Given the description of an element on the screen output the (x, y) to click on. 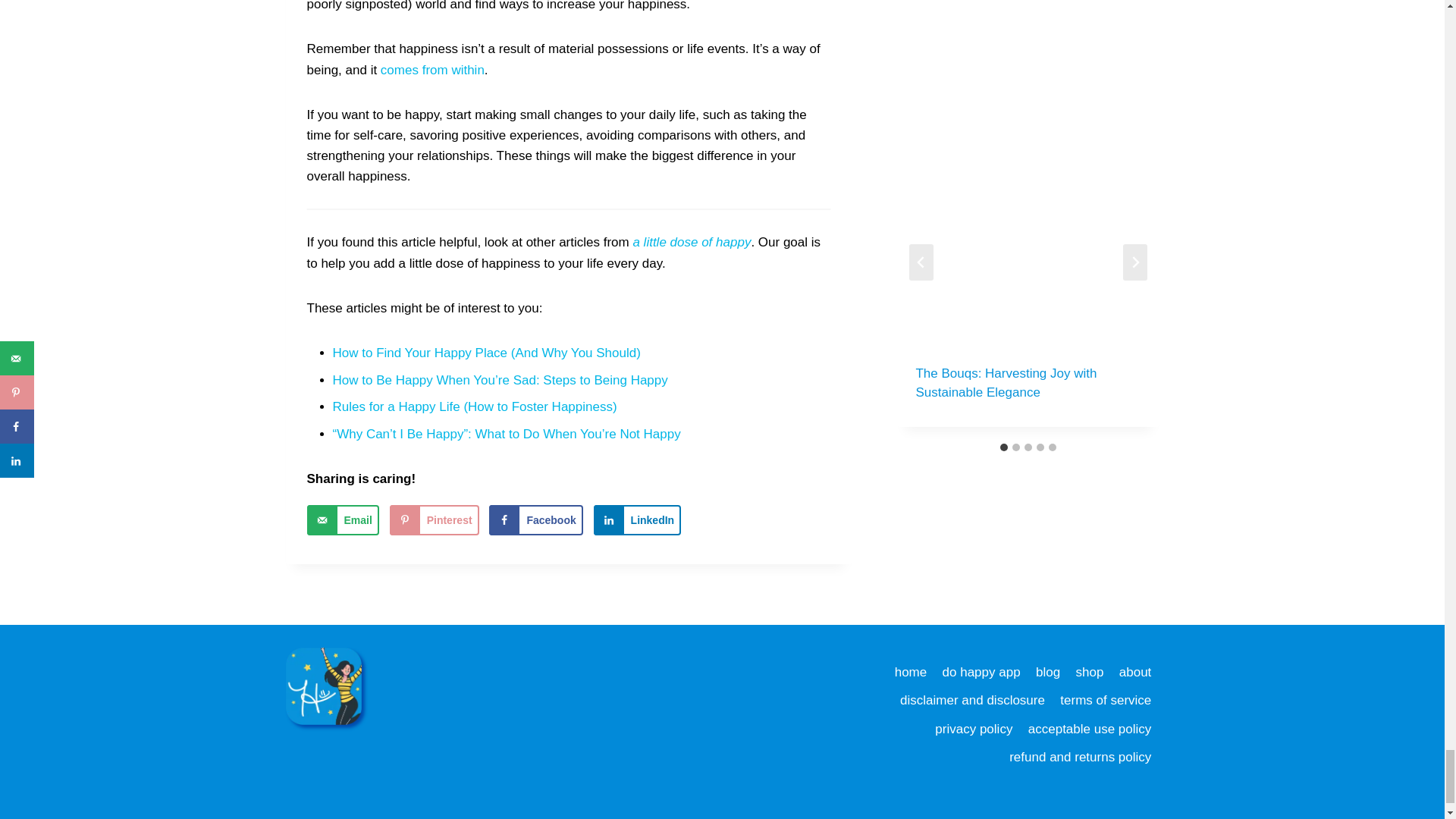
Share on Facebook (535, 520)
Save to Pinterest (434, 520)
Send over email (341, 520)
Share on LinkedIn (637, 520)
